Given the description of an element on the screen output the (x, y) to click on. 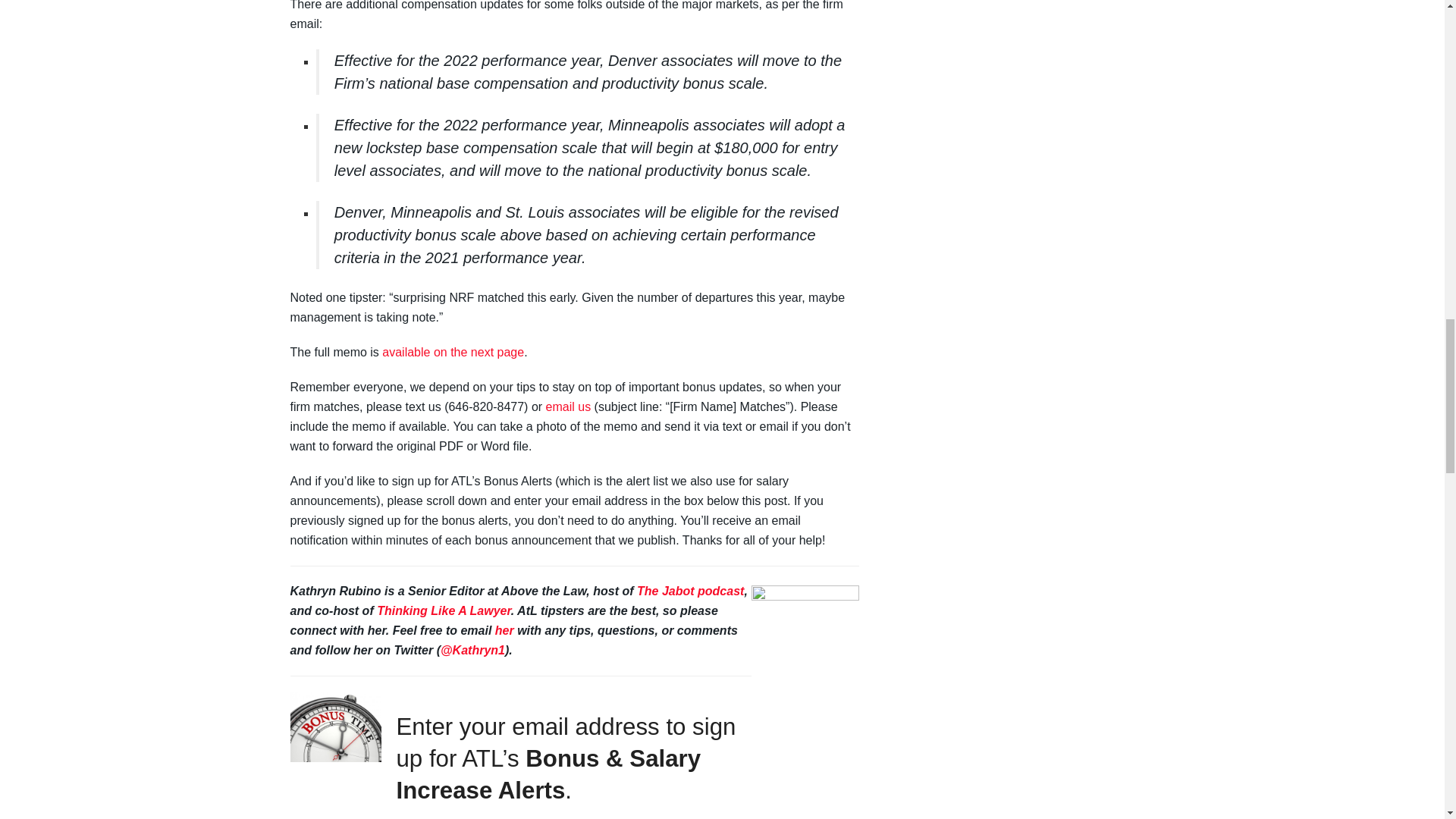
email us (568, 406)
The Jabot podcast (690, 590)
Thinking Like A Lawyer (444, 610)
available on the next page (452, 351)
her (504, 630)
